Given the description of an element on the screen output the (x, y) to click on. 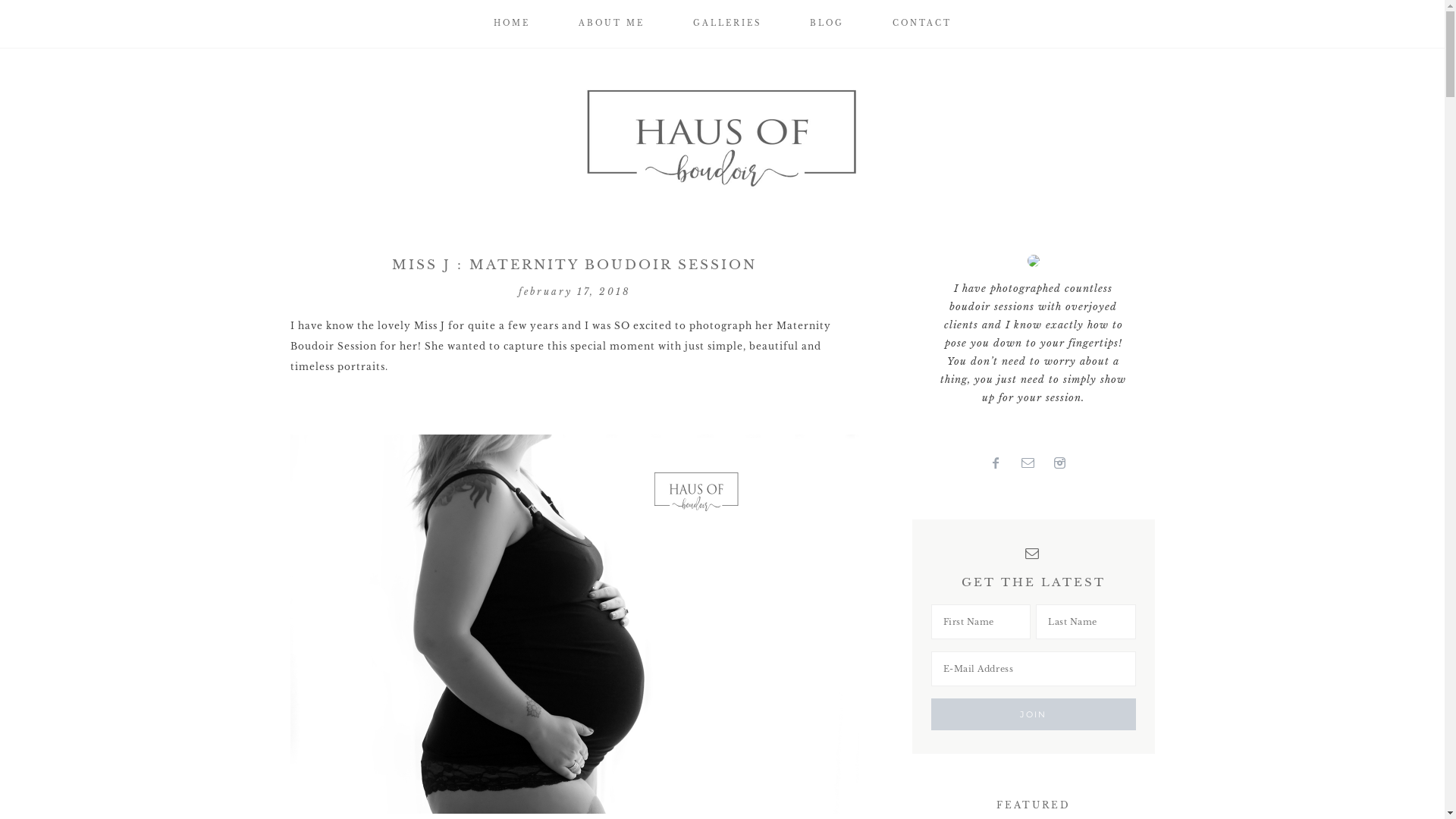
HOME Element type: text (511, 23)
Haus Of Boudoir Element type: hover (721, 136)
Instagram Element type: hover (1065, 463)
Facebook Element type: hover (1001, 463)
BLOG Element type: text (826, 23)
Join Element type: text (1033, 714)
ABOUT ME Element type: text (610, 23)
GALLERIES Element type: text (727, 23)
CONTACT Element type: text (921, 23)
Email Me Element type: hover (1033, 463)
